Given the description of an element on the screen output the (x, y) to click on. 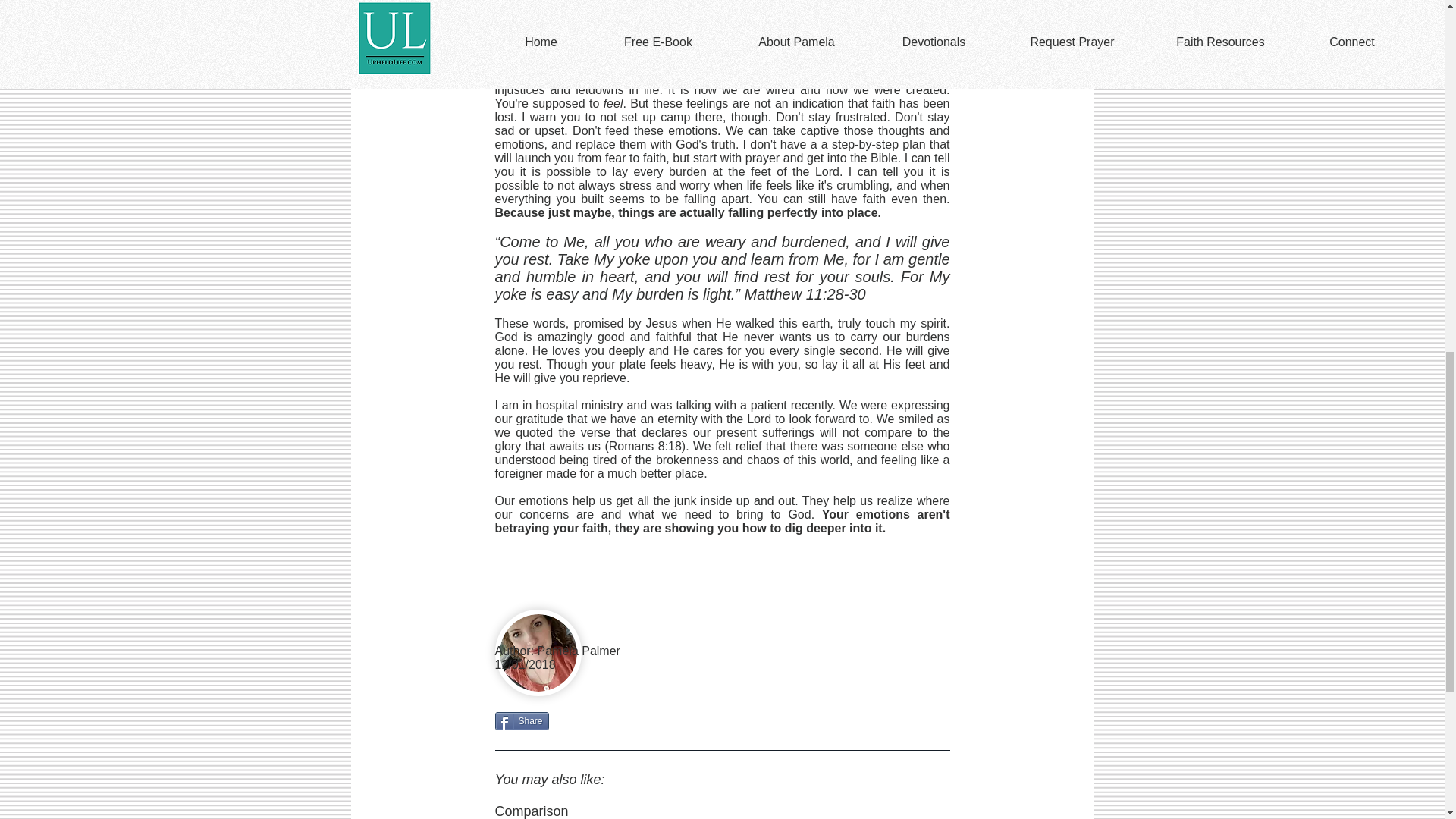
Share (521, 720)
Share (521, 720)
Comparison (531, 811)
